Given the description of an element on the screen output the (x, y) to click on. 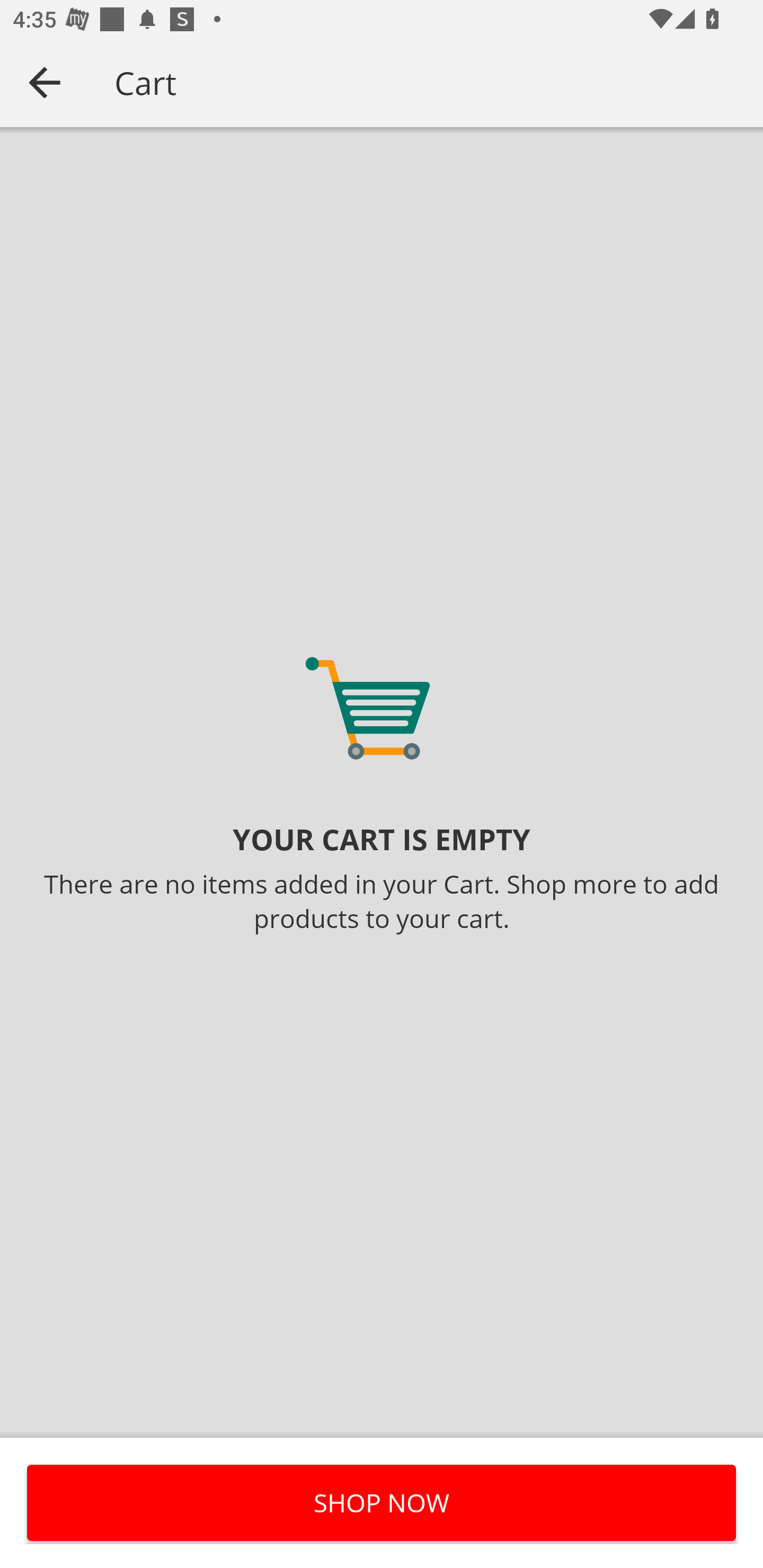
Navigate up (44, 82)
SHOP NOW (381, 1502)
